Given the description of an element on the screen output the (x, y) to click on. 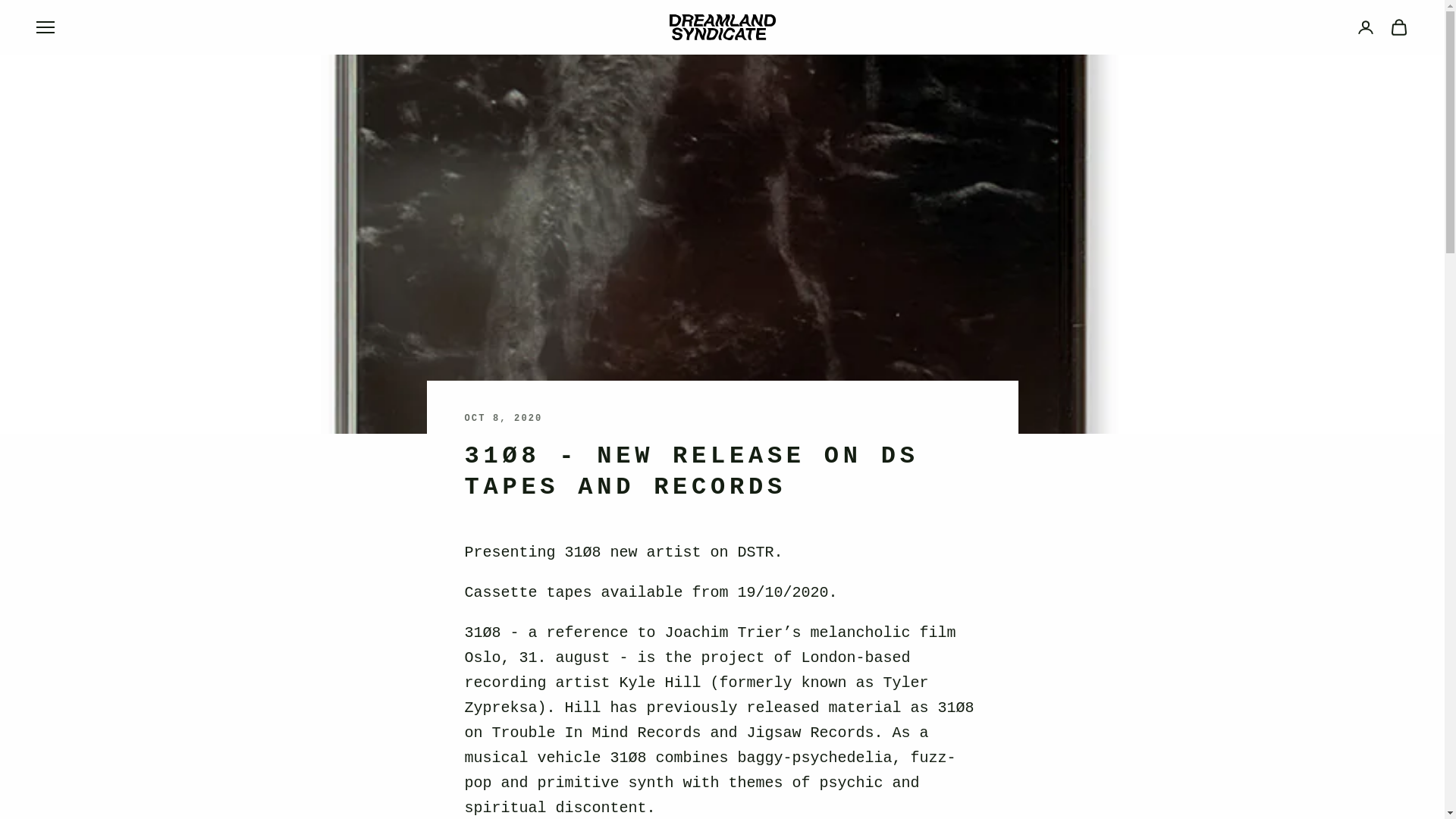
Open account page (1365, 27)
Dreamland Syndicate (721, 27)
Open cart (1398, 27)
Open navigation menu (45, 27)
